Given the description of an element on the screen output the (x, y) to click on. 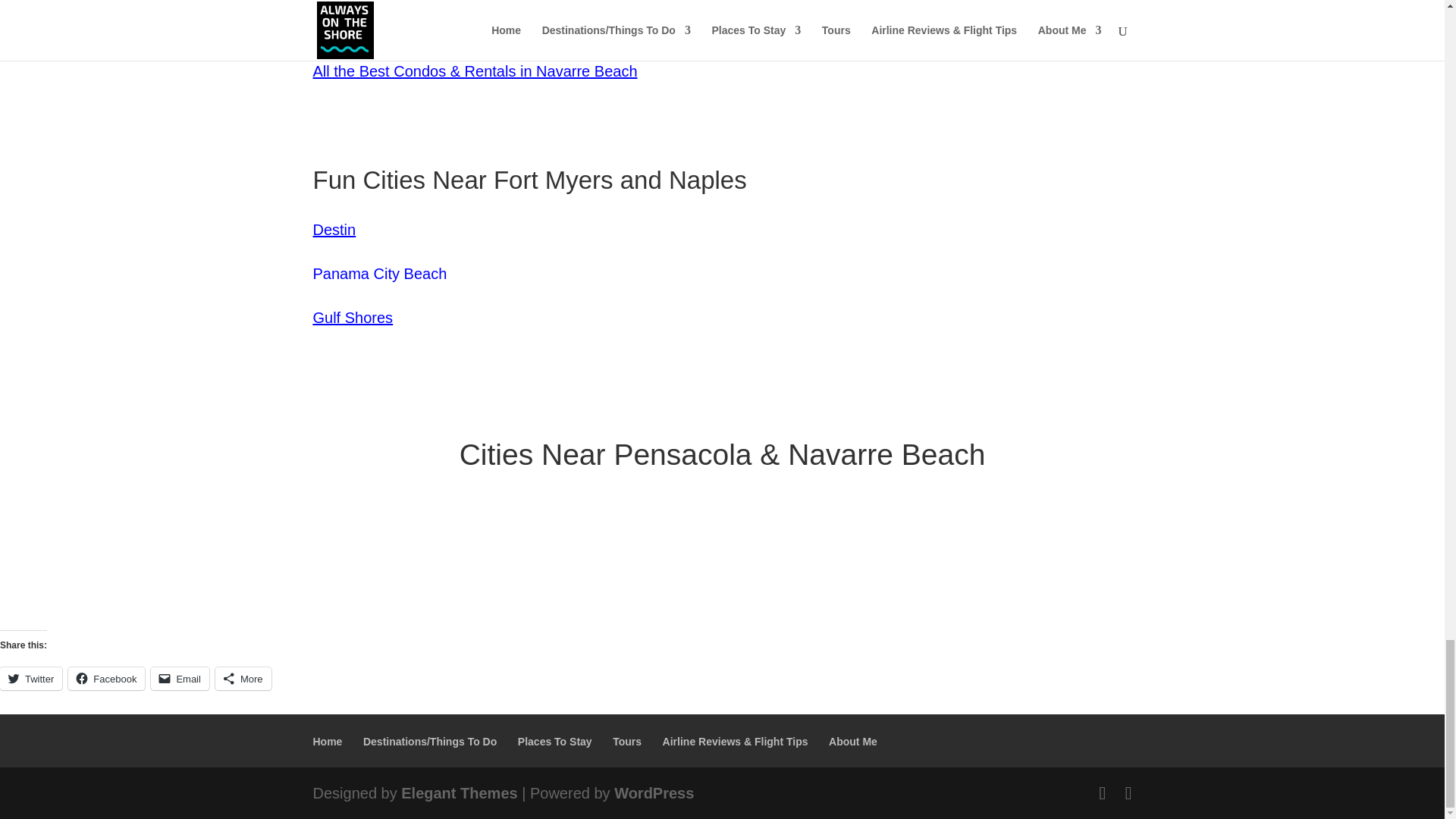
Click to share on Facebook (106, 678)
Click to email a link to a friend (180, 678)
Premium WordPress Themes (458, 792)
Click to share on Twitter (31, 678)
